Given the description of an element on the screen output the (x, y) to click on. 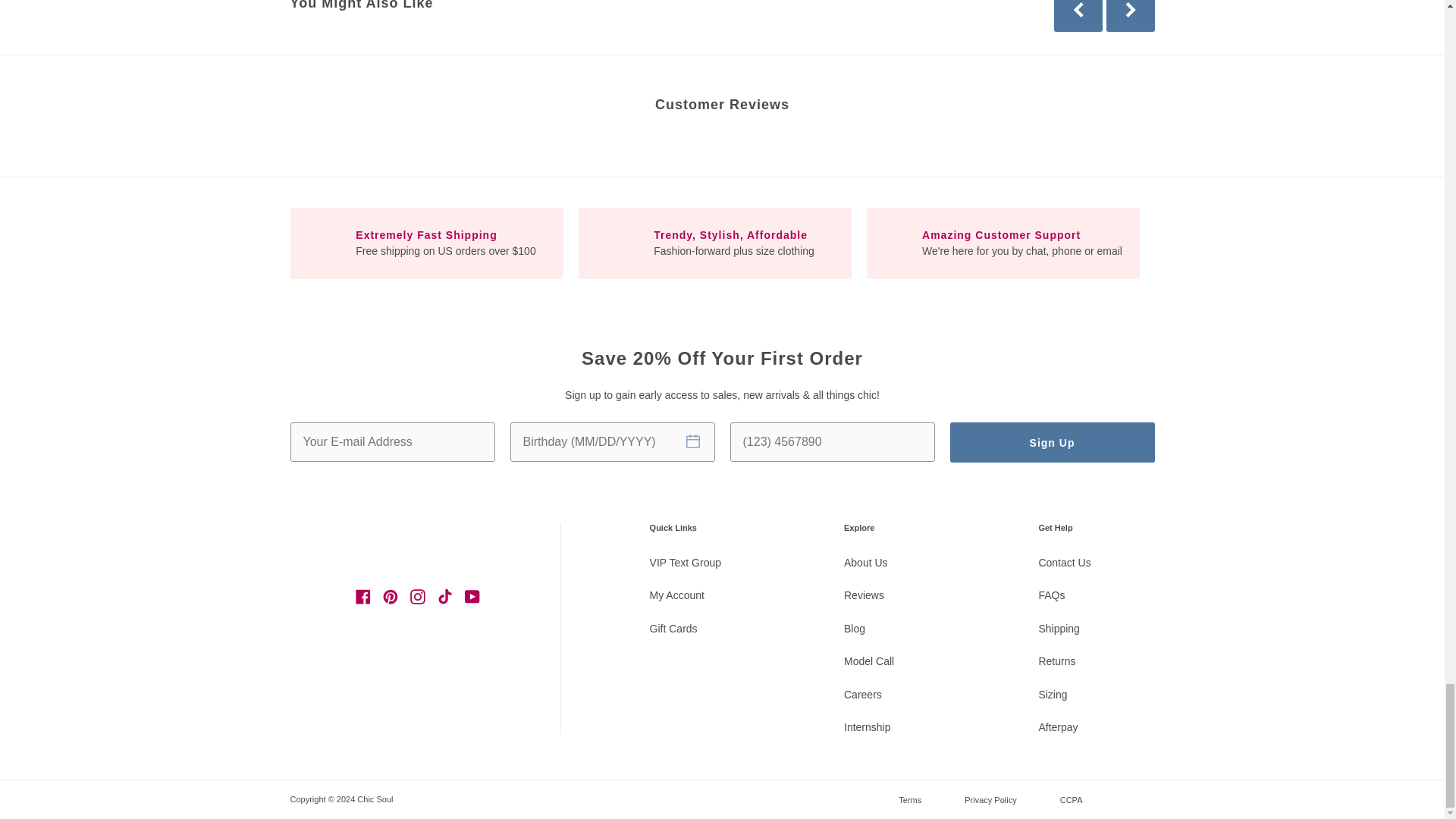
Chic Soul on Instagram (417, 595)
Chic Soul on Pinterest (390, 595)
Chic Soul on TikTok (444, 595)
Chic Soul on YouTube (472, 595)
Sign Up (1051, 442)
Chic Soul on Facebook (363, 595)
